Given the description of an element on the screen output the (x, y) to click on. 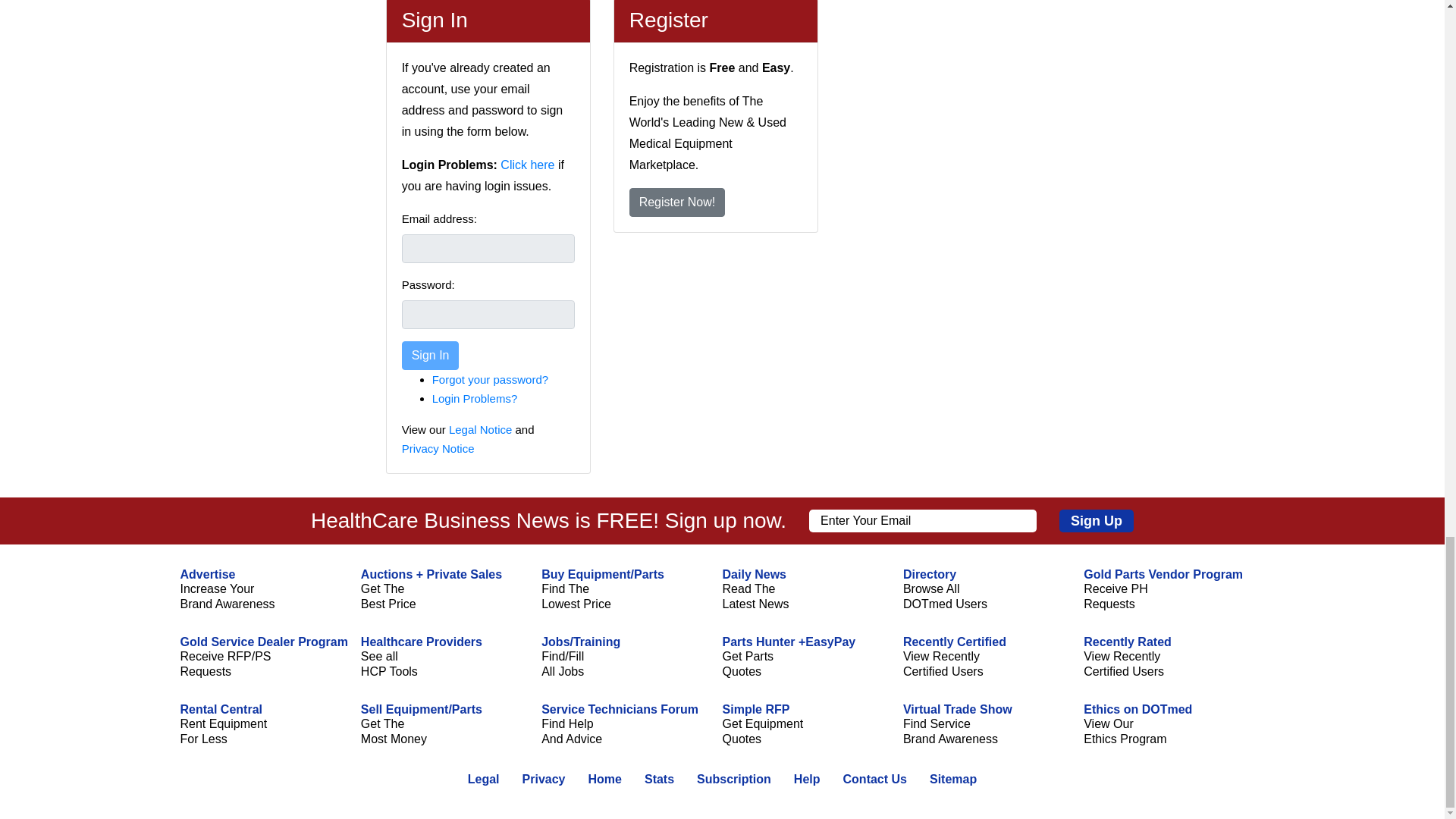
Login Problems? (475, 398)
Sign In (430, 355)
Forget your password? (490, 379)
Register Now! (676, 202)
